Given the description of an element on the screen output the (x, y) to click on. 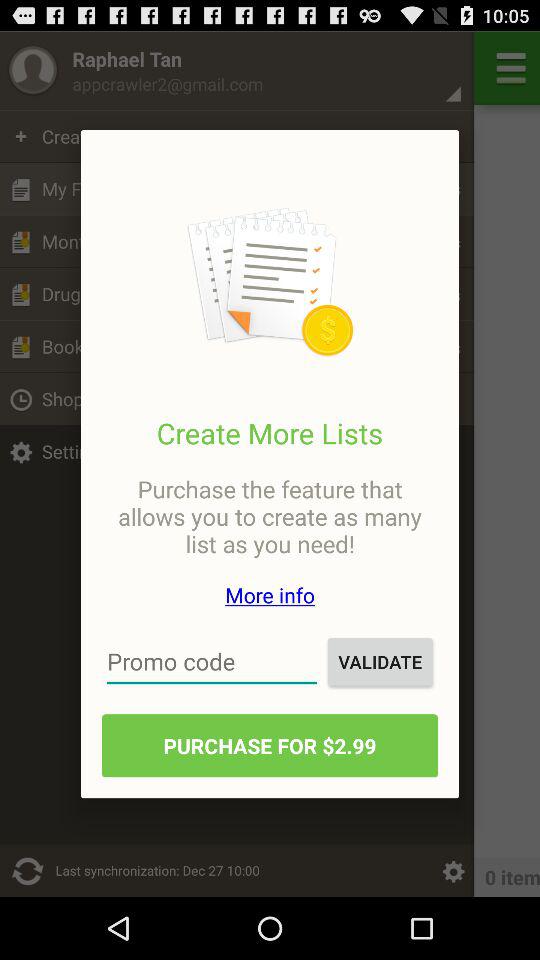
turn on item below the more info item (212, 661)
